Given the description of an element on the screen output the (x, y) to click on. 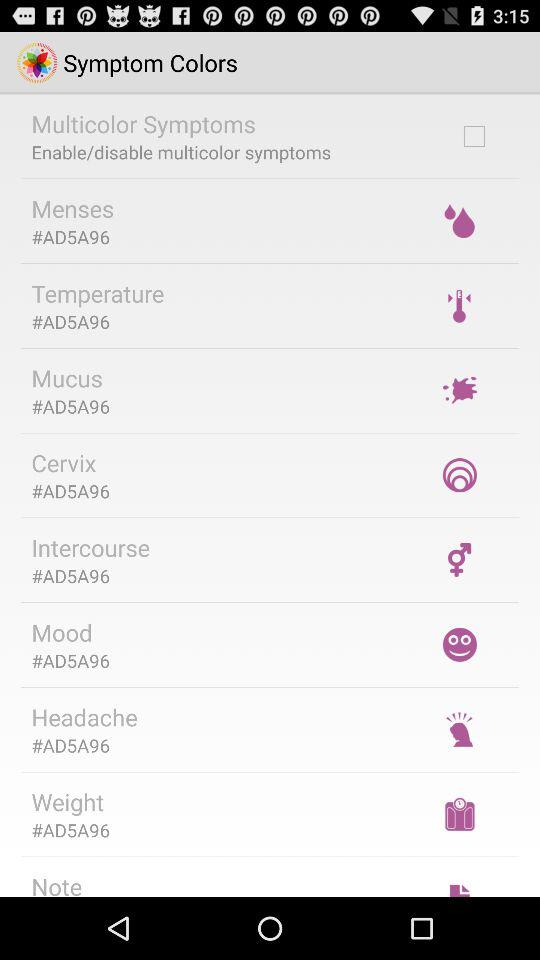
open weight (67, 801)
